Given the description of an element on the screen output the (x, y) to click on. 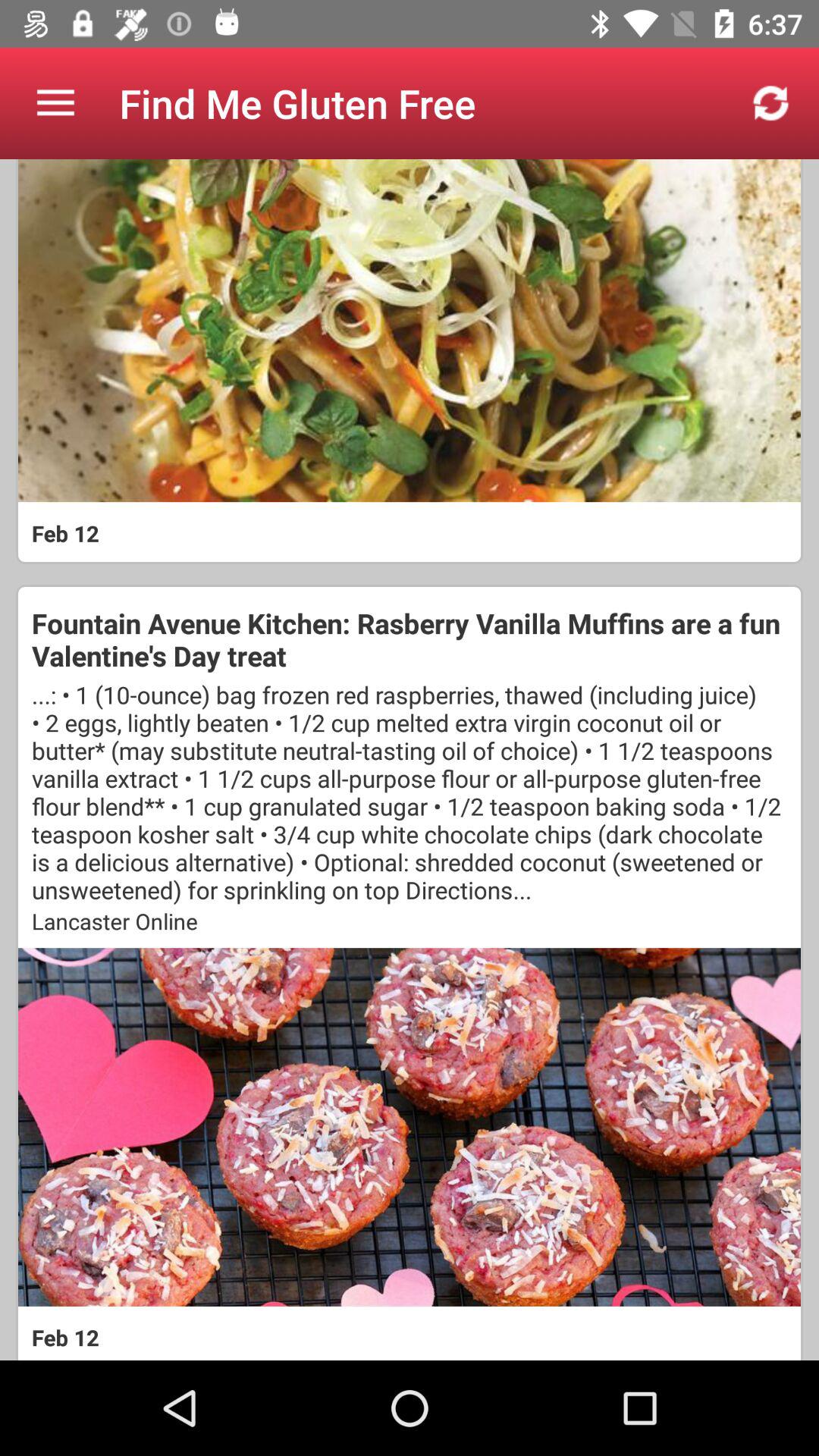
press icon to the left of find me gluten item (55, 103)
